Given the description of an element on the screen output the (x, y) to click on. 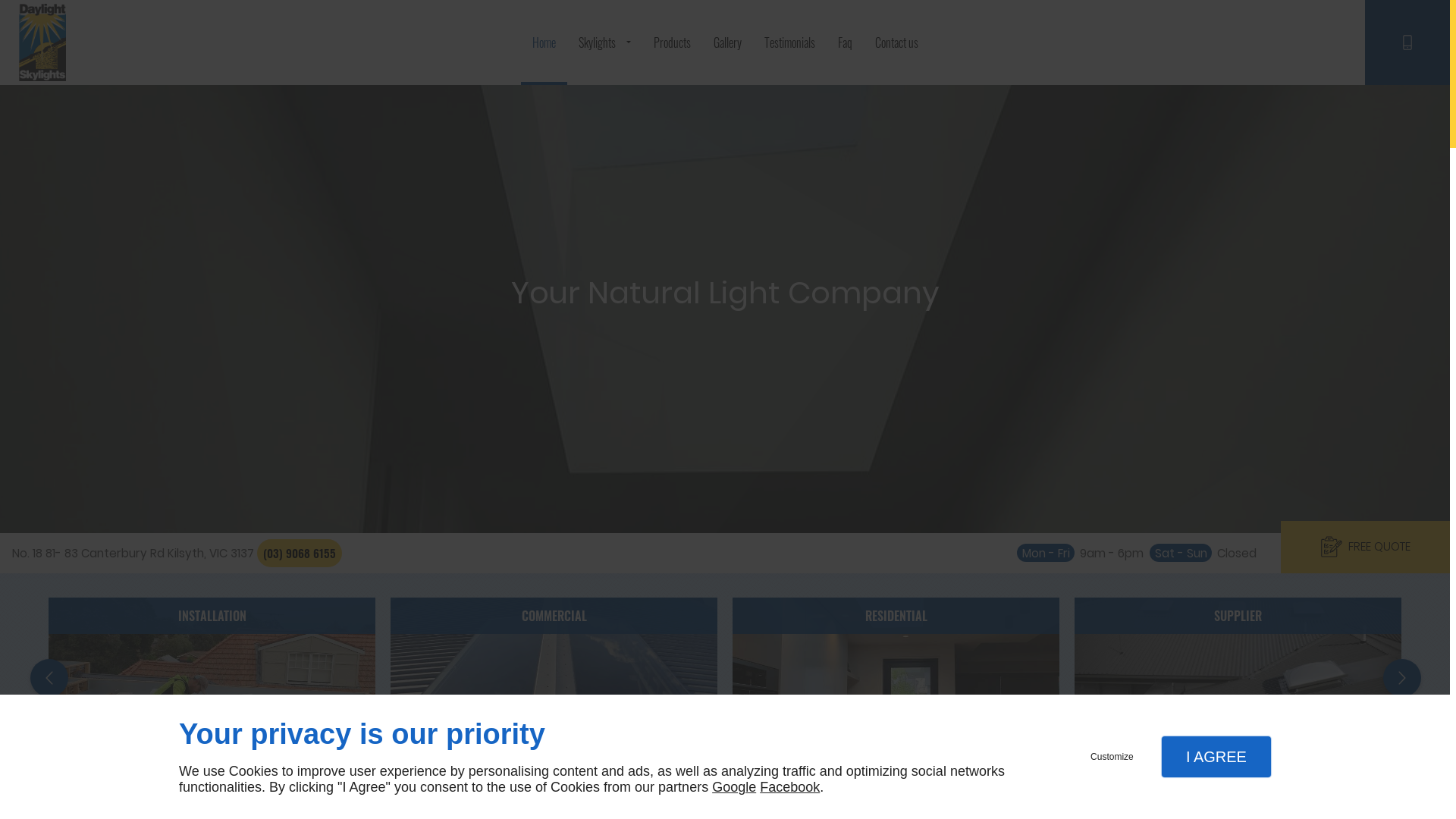
Products Element type: text (671, 42)
Skylights Element type: text (604, 42)
Google Element type: text (734, 786)
FREE QUOTE Element type: text (1364, 546)
Faq Element type: text (844, 42)
RESIDENTIAL Element type: text (896, 682)
Facebook Element type: text (789, 786)
Testimonials Element type: text (788, 42)
(03) 9068 6155 Element type: text (299, 553)
Your Natural Light Company Element type: text (725, 292)
Gallery Element type: text (727, 42)
COMMERCIAL Element type: text (555, 682)
Home Element type: text (543, 42)
Contact us Element type: text (895, 42)
SUPPLIER Element type: text (1238, 682)
INSTALLATION Element type: text (213, 682)
